Given the description of an element on the screen output the (x, y) to click on. 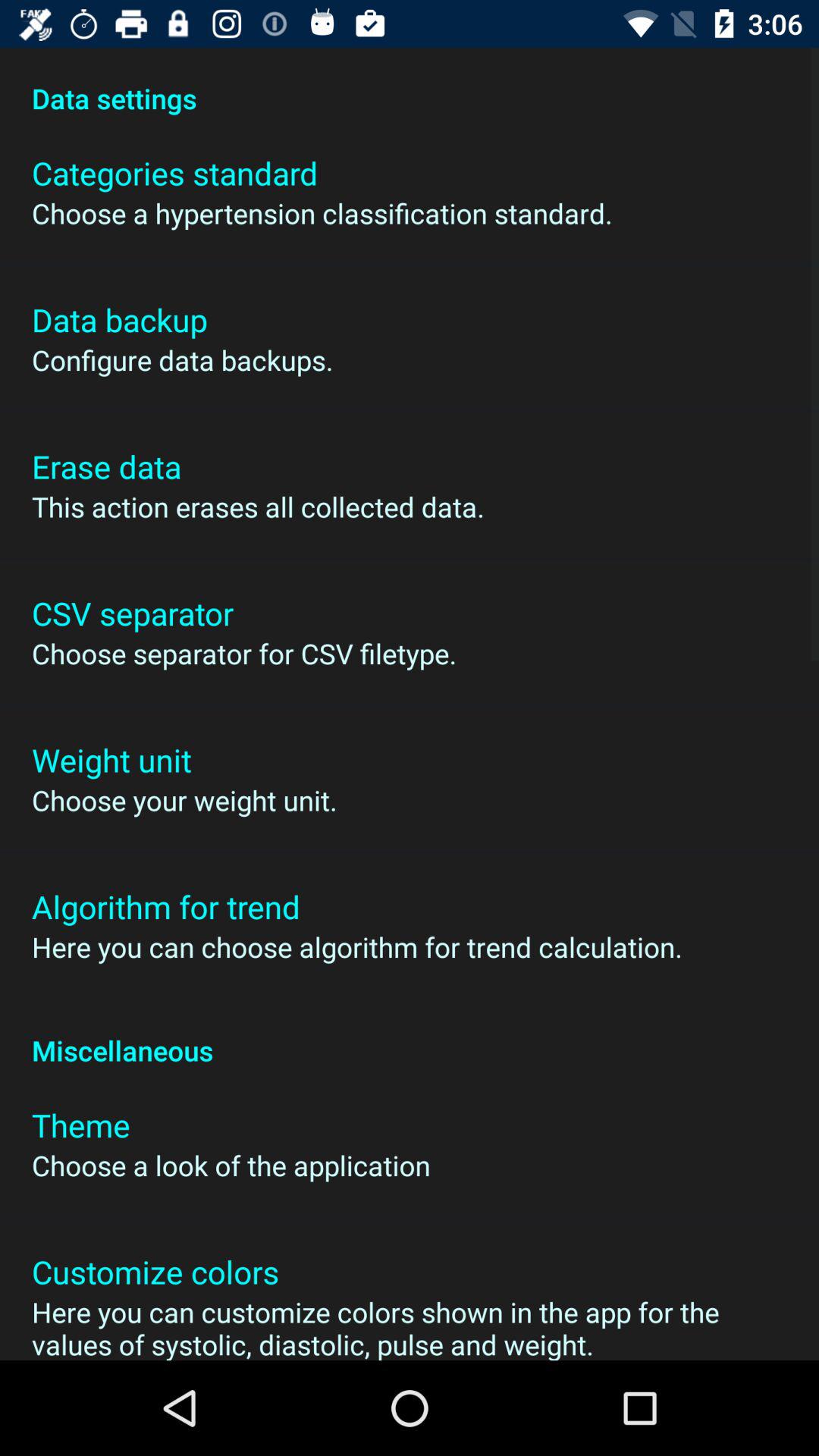
scroll to the data settings icon (409, 82)
